Given the description of an element on the screen output the (x, y) to click on. 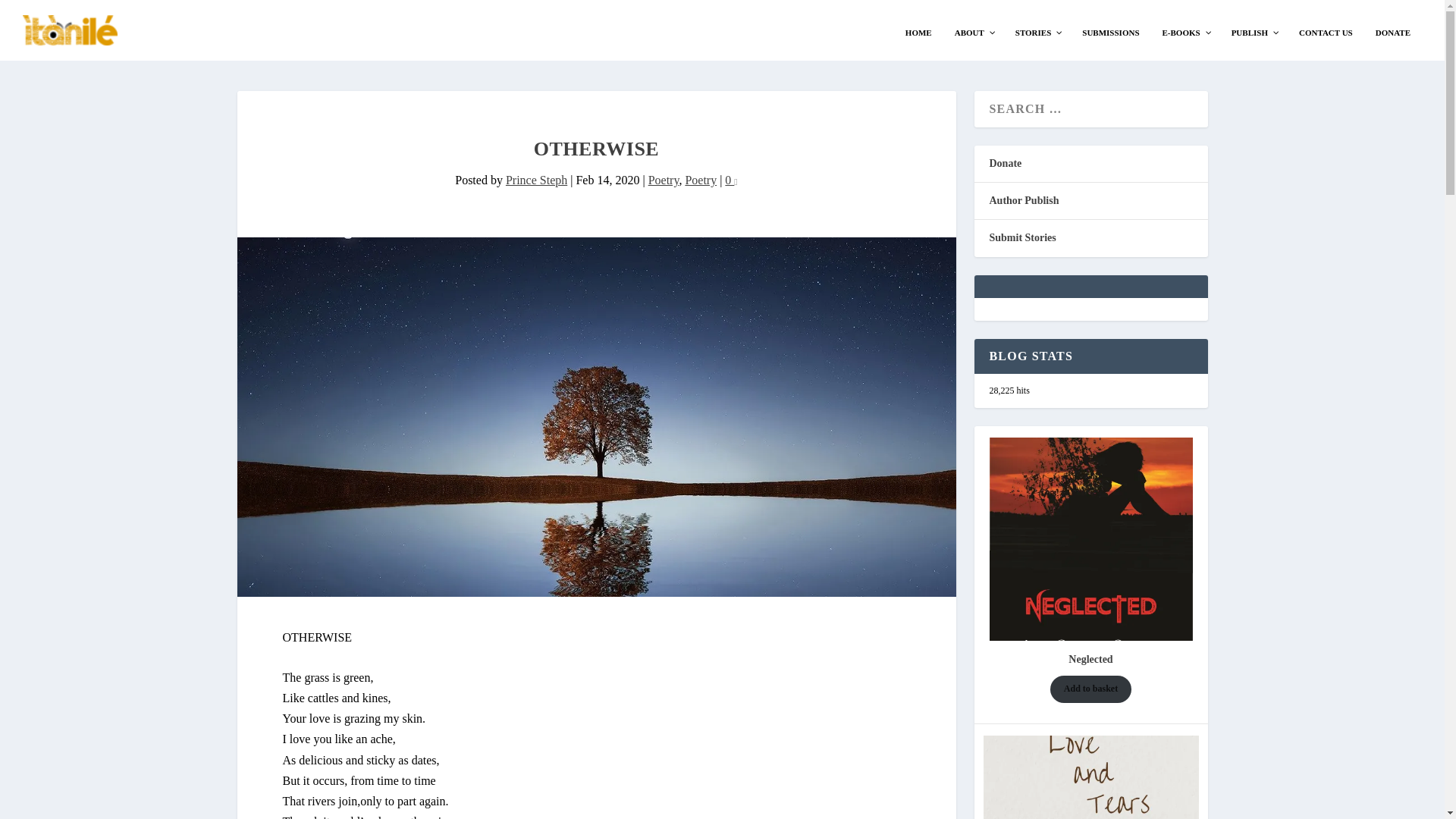
Prince Steph (536, 179)
PUBLISH (1253, 32)
0 (730, 179)
comment count (734, 181)
Poetry (663, 179)
SUBMISSIONS (1110, 32)
CONTACT US (1325, 32)
STORIES (1037, 32)
Poetry (700, 179)
DONATE (1393, 32)
E-BOOKS (1185, 32)
HOME (918, 32)
ABOUT (973, 32)
Posts by Prince Steph (536, 179)
